Given the description of an element on the screen output the (x, y) to click on. 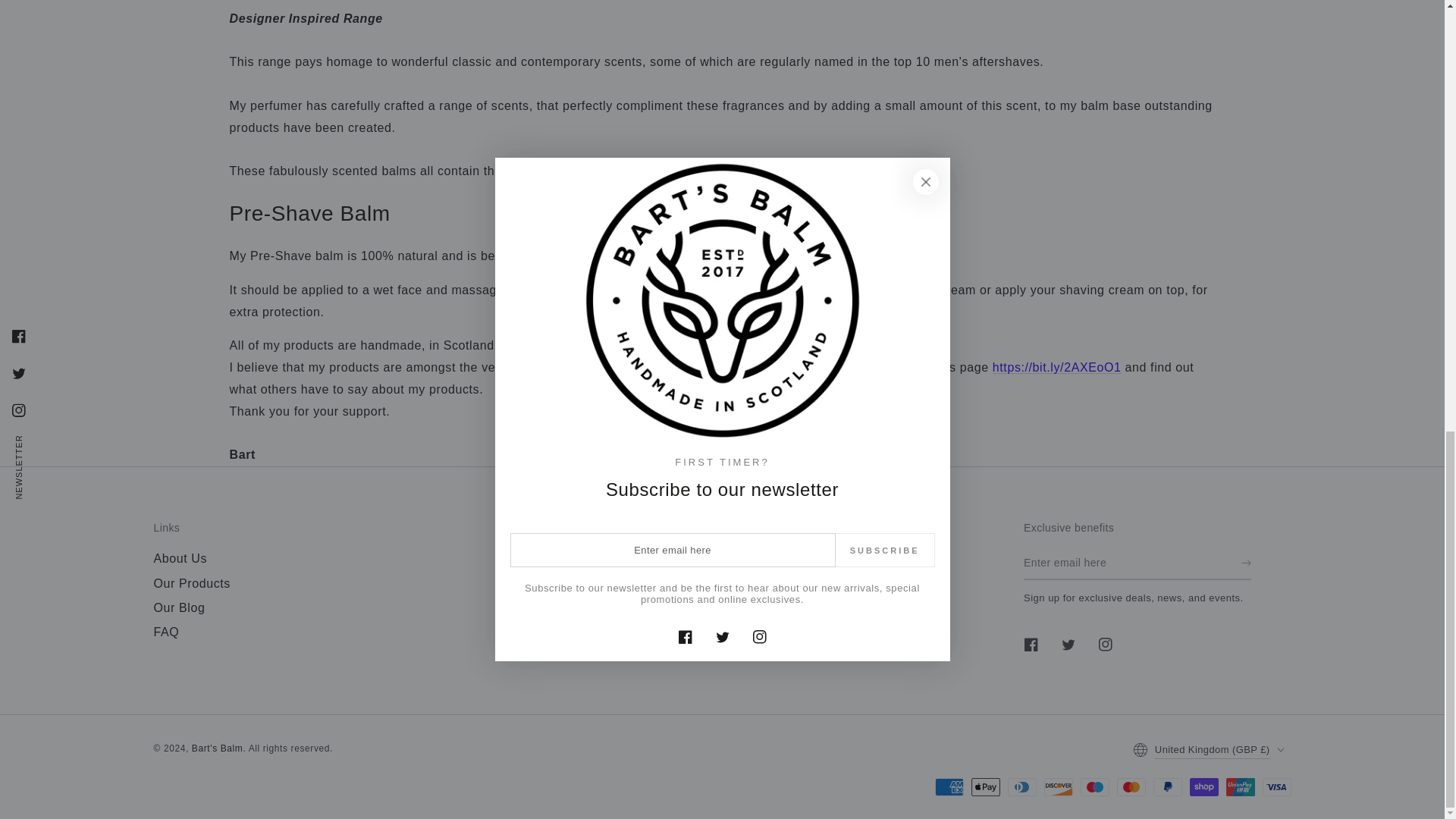
FAQ (165, 631)
Bart's Balm Reviews (1056, 367)
Our Blog (178, 607)
Our Products (191, 583)
About Us (179, 558)
Facebook (1031, 644)
